Given the description of an element on the screen output the (x, y) to click on. 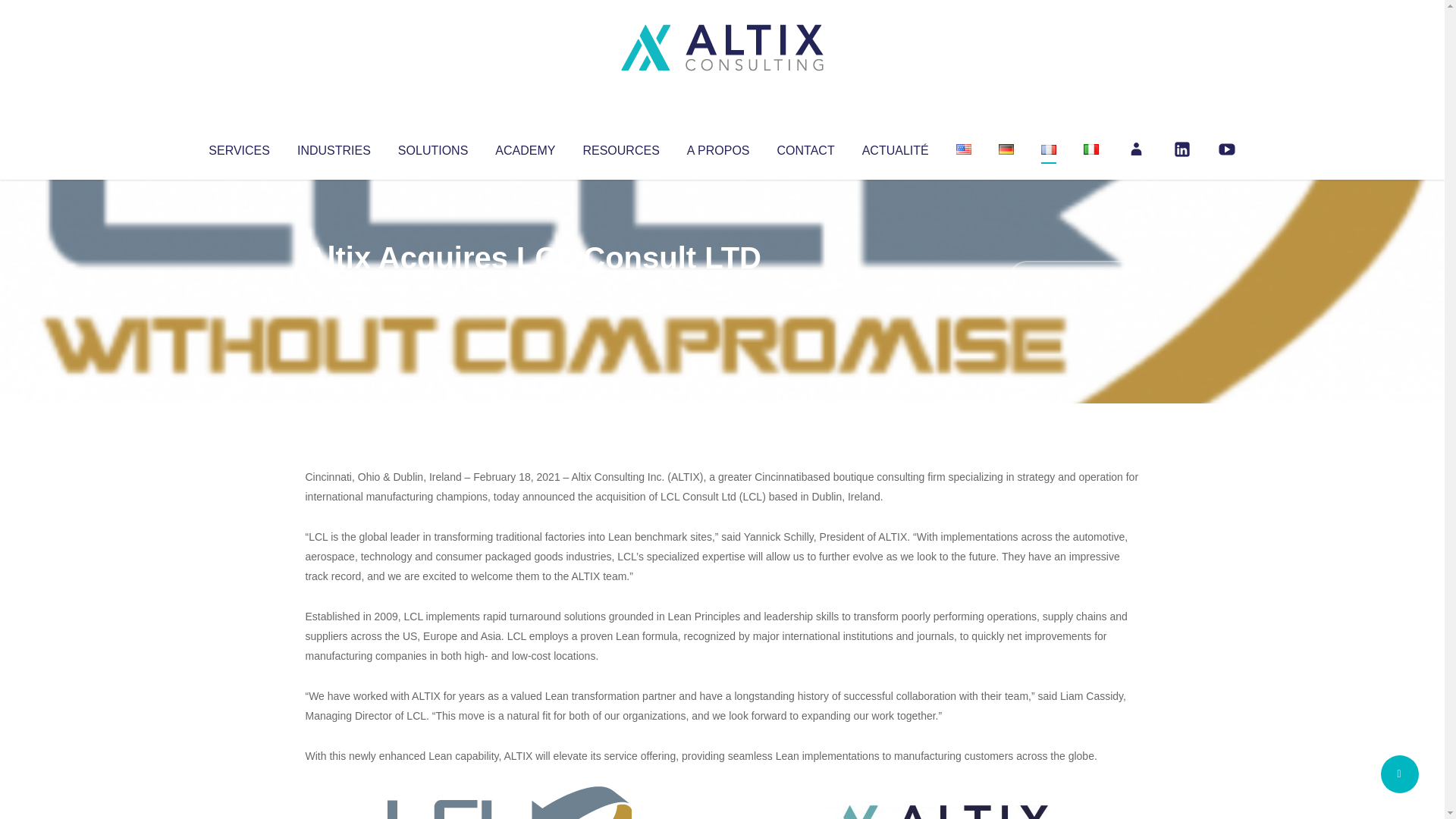
SERVICES (238, 146)
Articles par Altix (333, 287)
Altix (333, 287)
SOLUTIONS (432, 146)
Uncategorized (530, 287)
ACADEMY (524, 146)
INDUSTRIES (334, 146)
No Comments (1073, 278)
A PROPOS (718, 146)
RESOURCES (620, 146)
